Given the description of an element on the screen output the (x, y) to click on. 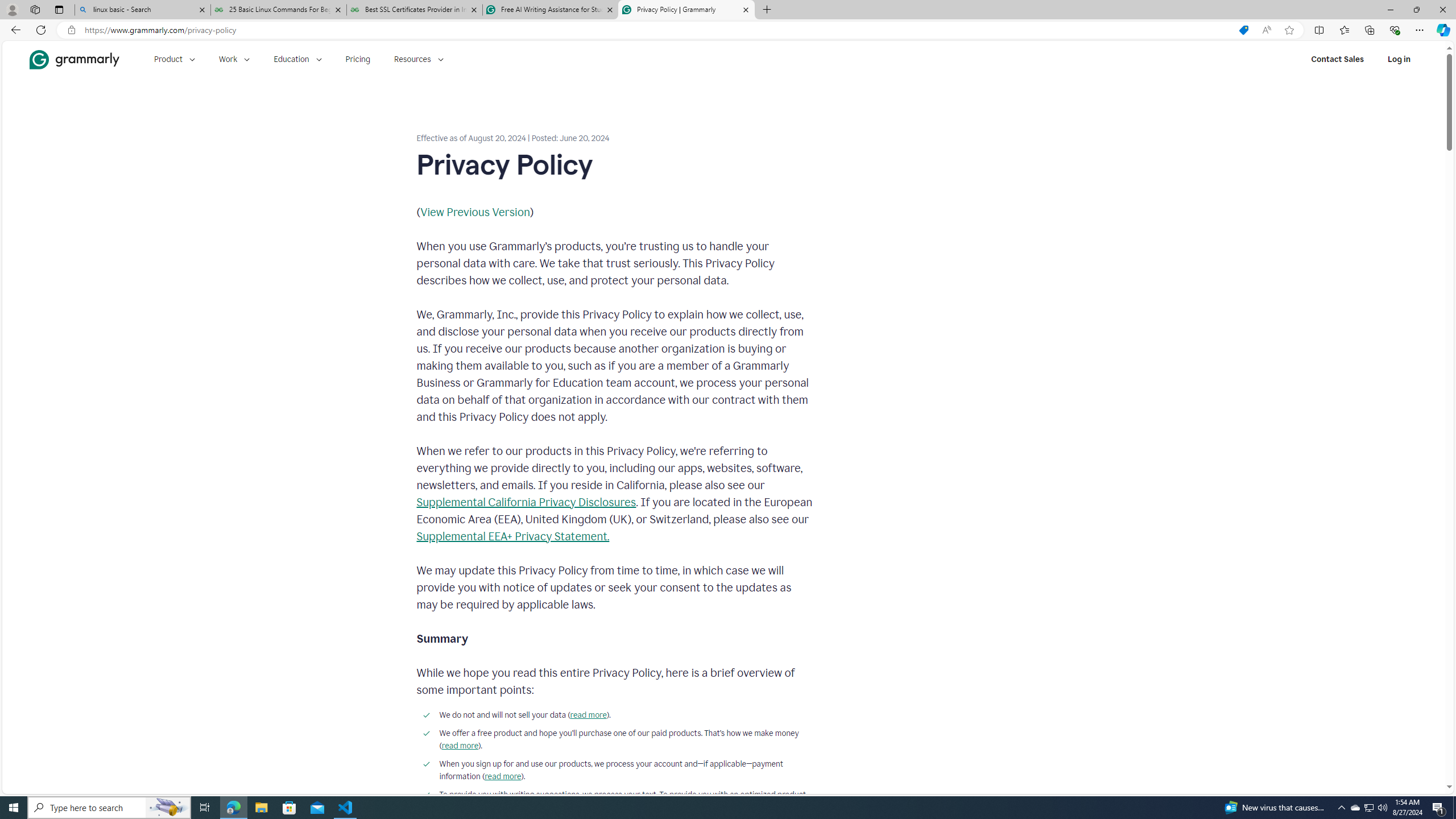
25 Basic Linux Commands For Beginners - GeeksforGeeks (277, 9)
Work (234, 58)
Contact Sales (1337, 58)
Pricing (357, 58)
Supplemental California Privacy Disclosures (526, 502)
Resources (419, 58)
Free AI Writing Assistance for Students | Grammarly (550, 9)
